Given the description of an element on the screen output the (x, y) to click on. 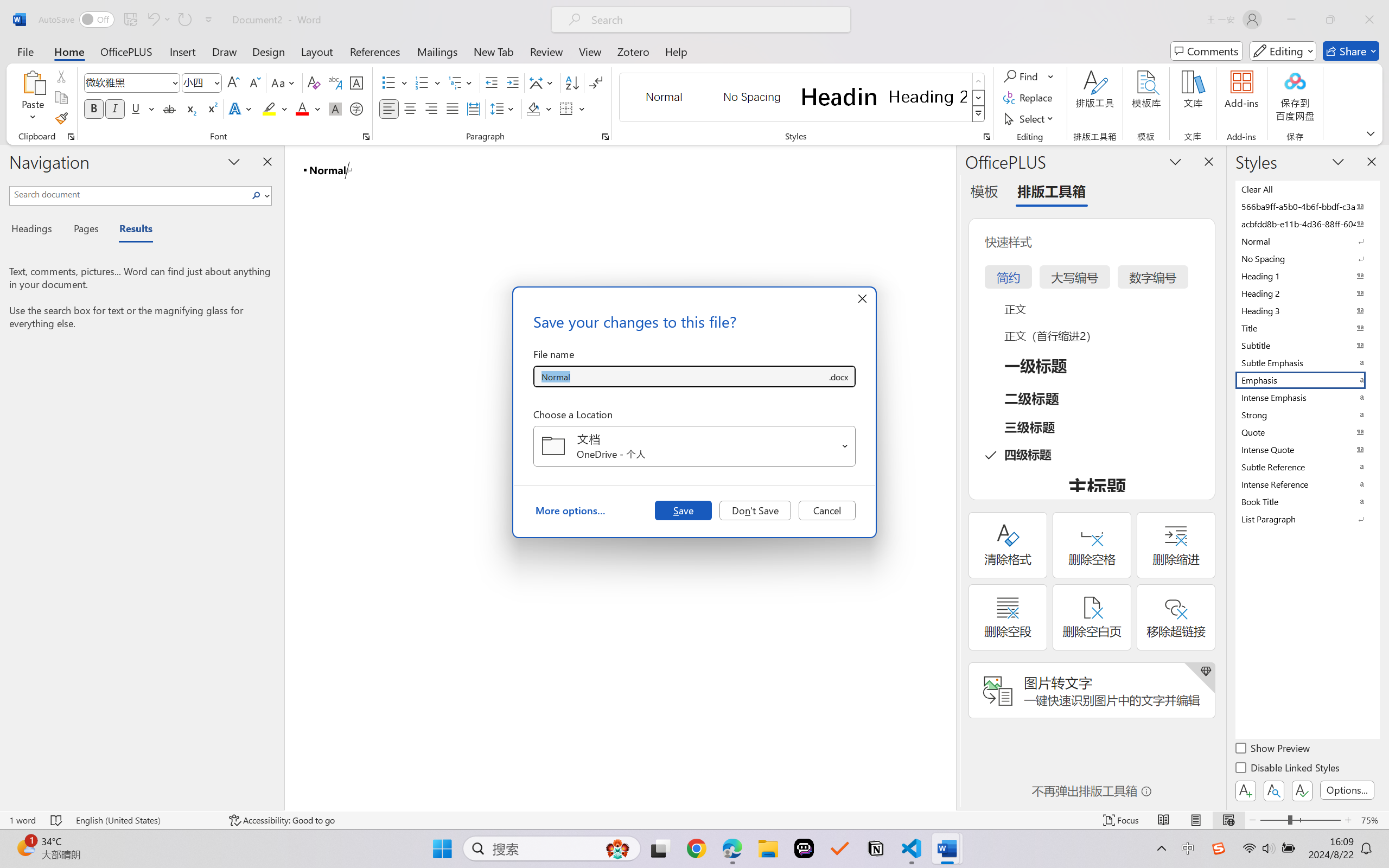
Minimize (1291, 19)
Borders (566, 108)
Row up (978, 81)
Poe (804, 848)
Search document (128, 193)
Paragraph... (605, 136)
Line and Paragraph Spacing (503, 108)
Class: NetUIScrollBar (948, 477)
Subscript (190, 108)
Mailings (437, 51)
